Given the description of an element on the screen output the (x, y) to click on. 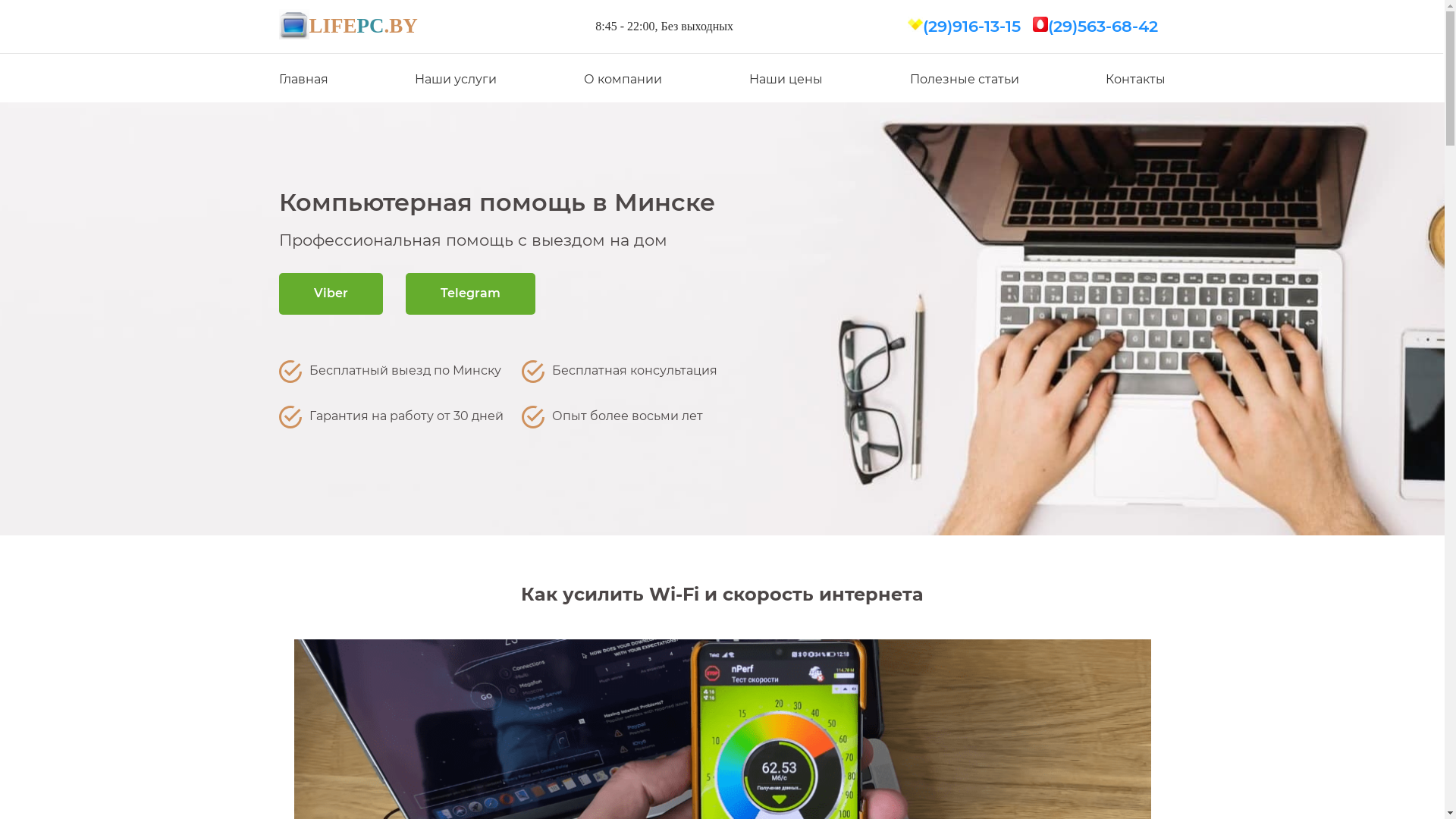
(29)916-13-15 Element type: text (971, 25)
Viber Element type: text (330, 293)
Telegram Element type: text (469, 293)
(29)563-68-42 Element type: text (1102, 25)
